Given the description of an element on the screen output the (x, y) to click on. 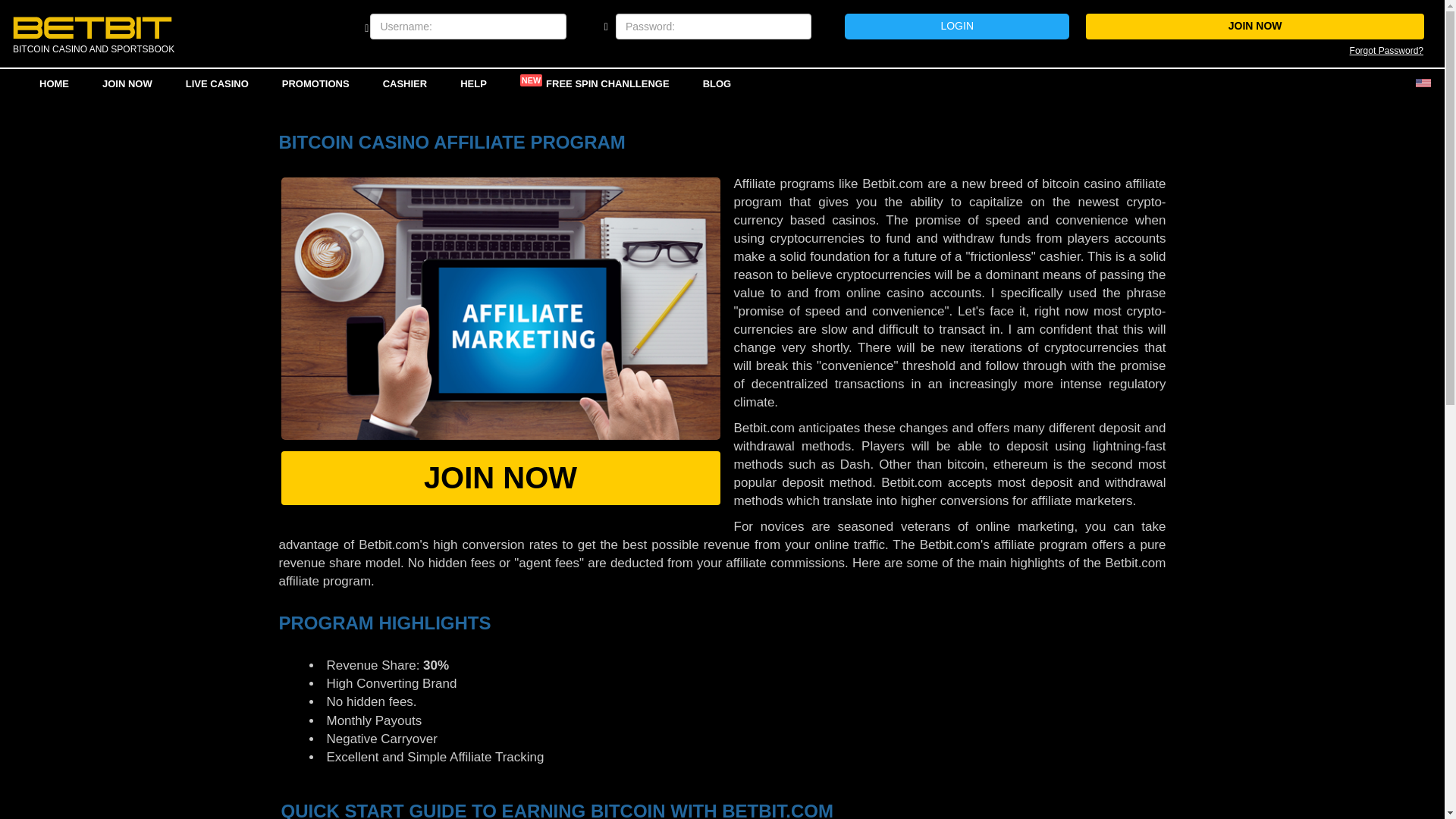
LIVE CASINO (216, 83)
JOIN NOW (126, 83)
JOIN NOW (500, 478)
LOGIN (956, 26)
NEWFREE SPIN CHANLLENGE (594, 83)
JOIN NOW (1255, 26)
HOME (54, 83)
Forgot Password? (1386, 50)
HELP (473, 83)
BLOG (716, 83)
PROMOTIONS (315, 83)
CASHIER (405, 83)
